Given the description of an element on the screen output the (x, y) to click on. 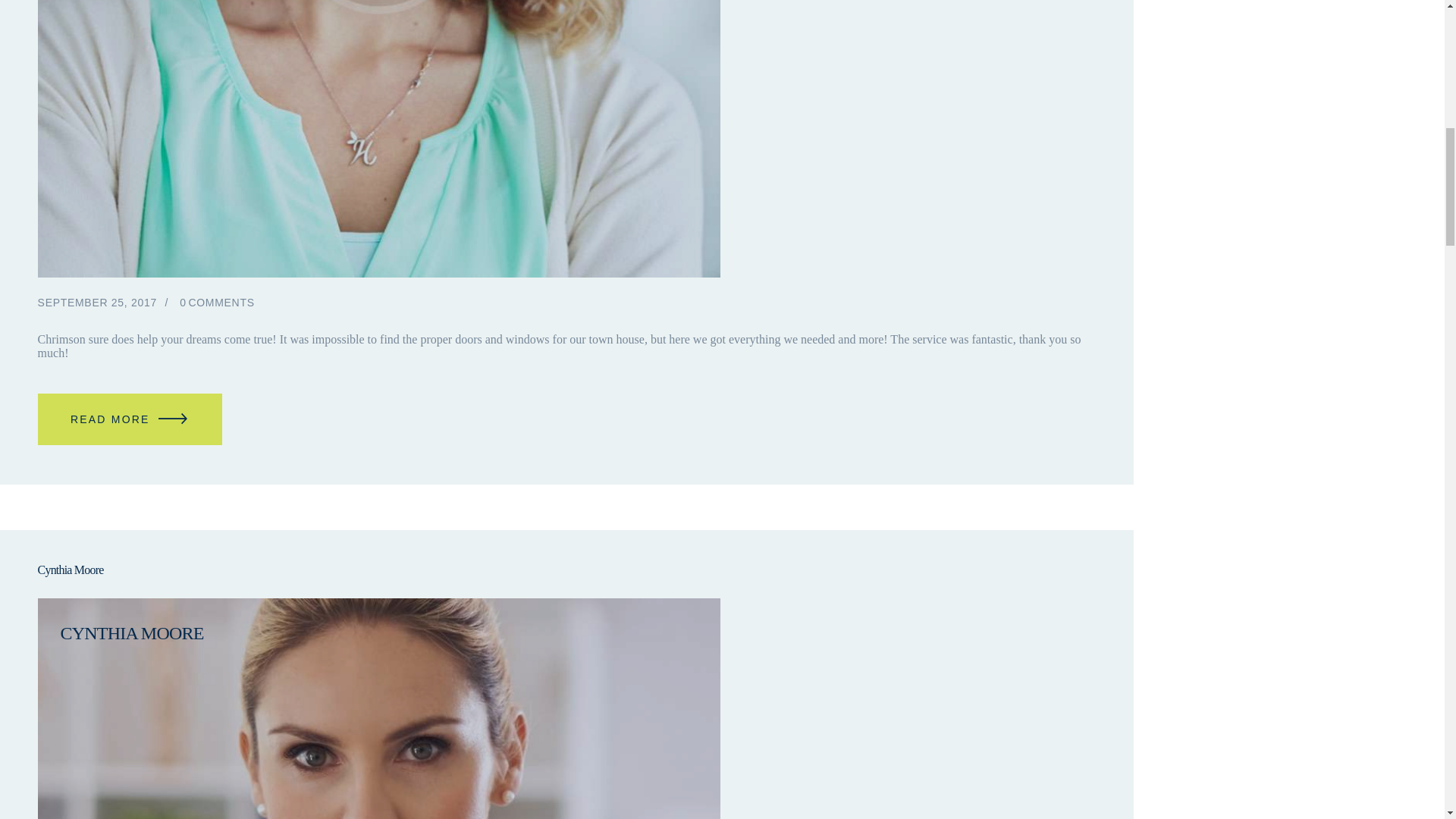
Cynthia Moore (566, 570)
CYNTHIA MOORE (379, 633)
0COMMENTS (216, 302)
READ MORE (129, 419)
SEPTEMBER 25, 2017 (97, 302)
